Given the description of an element on the screen output the (x, y) to click on. 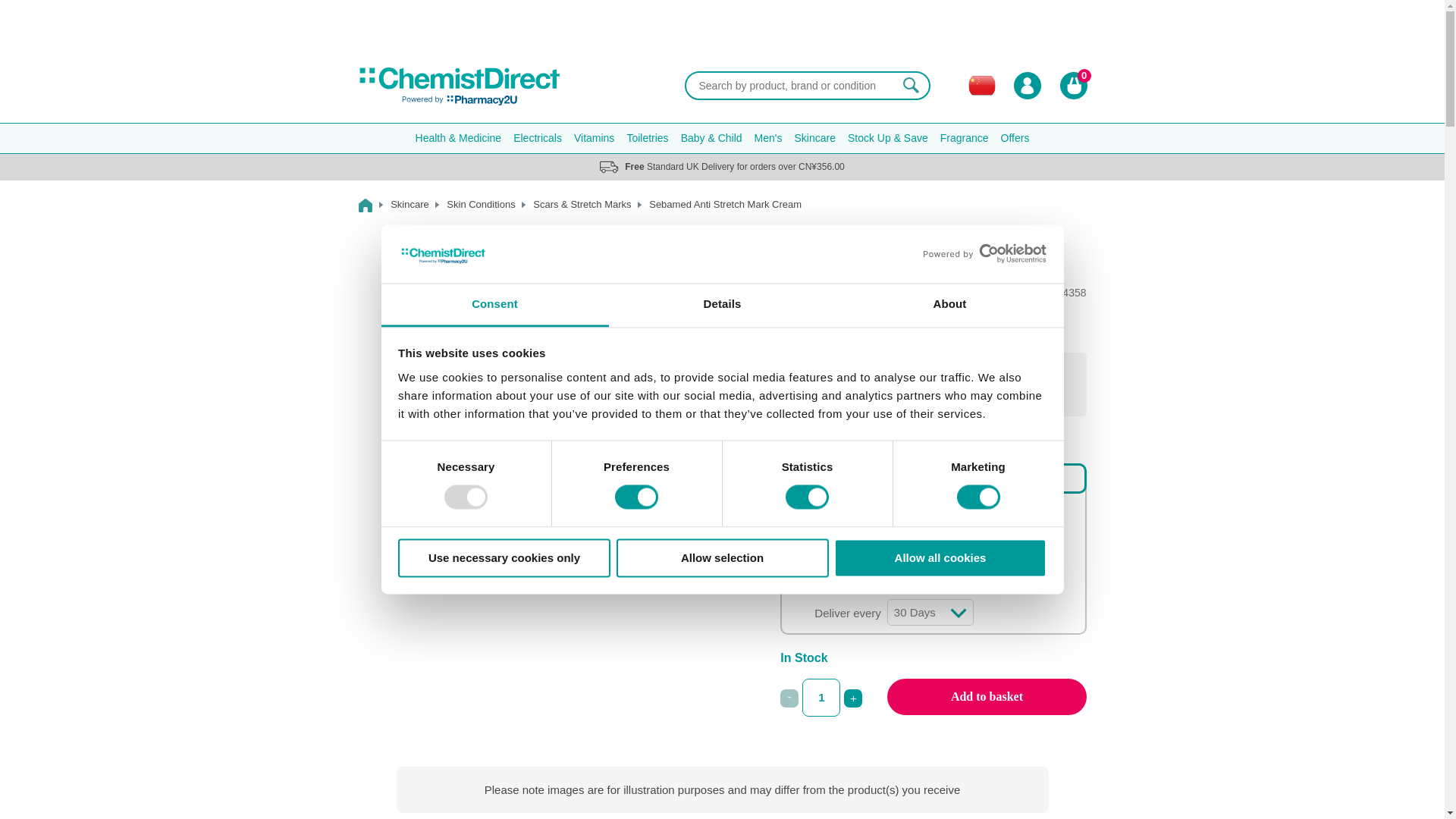
on (812, 509)
0 (798, 476)
Shop Now (722, 31)
Consent (494, 304)
1 (821, 697)
Details (721, 304)
About (948, 304)
Electricals (536, 138)
Vitamins (593, 138)
